Given the description of an element on the screen output the (x, y) to click on. 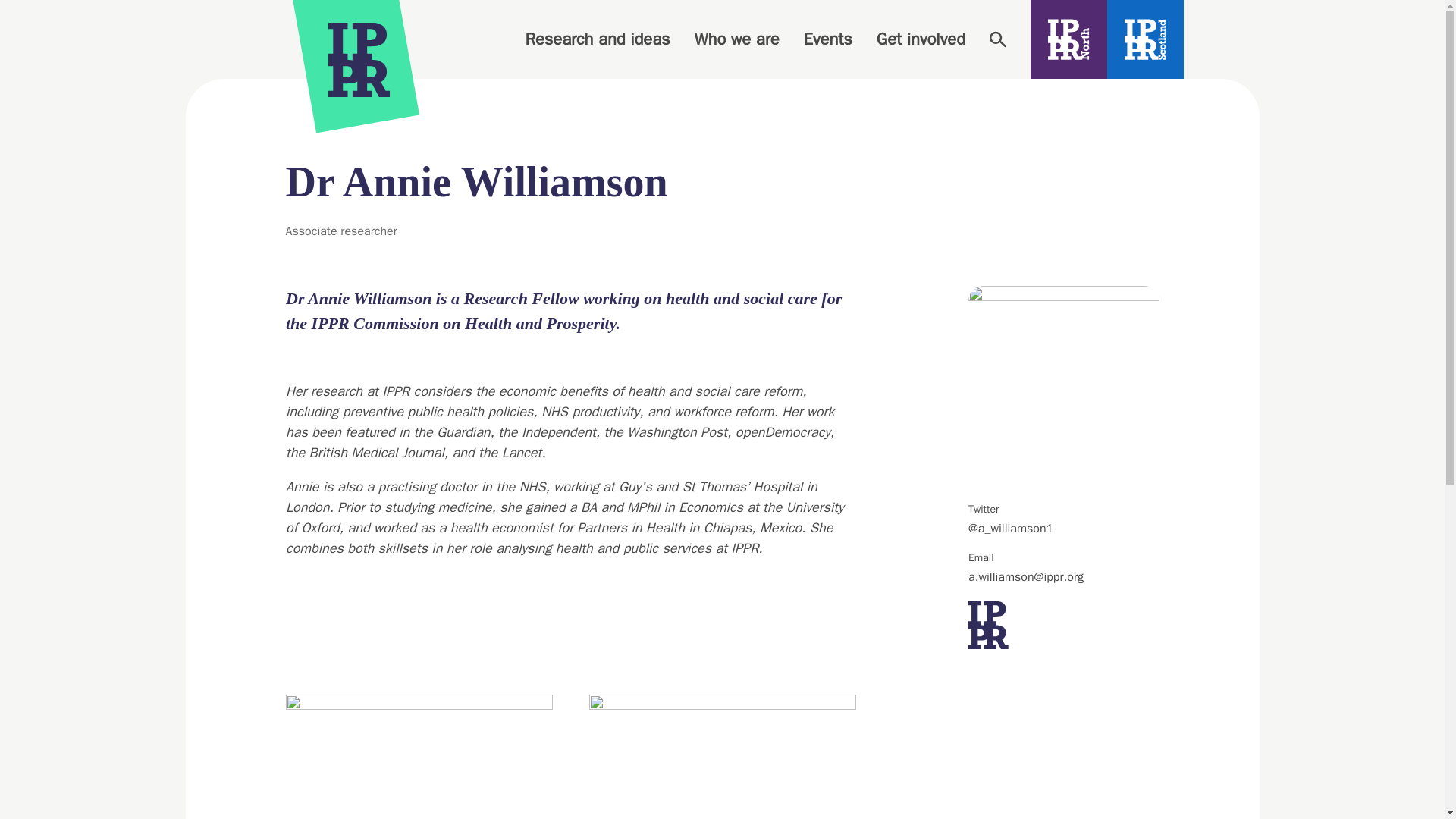
Events (827, 39)
Who we are (736, 39)
Get involved (920, 39)
Research and ideas (596, 39)
